Given the description of an element on the screen output the (x, y) to click on. 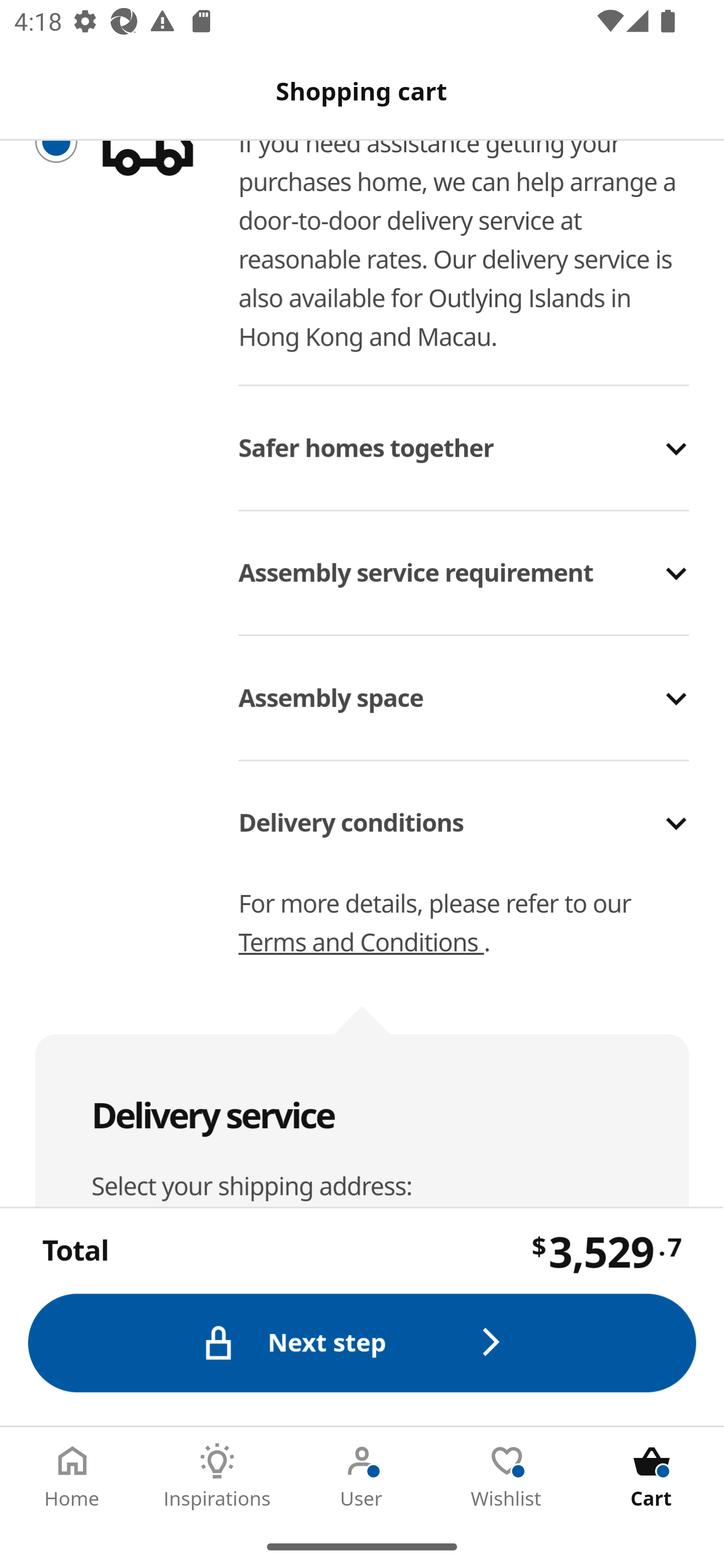
Safer homes together  Safer homes together  (464, 433)
Assembly space  Assembly space  (464, 684)
Delivery conditions  Delivery conditions  (464, 808)
Terms and Conditions  (361, 943)
Home
Tab 1 of 5 (72, 1476)
Inspirations
Tab 2 of 5 (216, 1476)
User
Tab 3 of 5 (361, 1476)
Wishlist
Tab 4 of 5 (506, 1476)
Cart
Tab 5 of 5 (651, 1476)
